Given the description of an element on the screen output the (x, y) to click on. 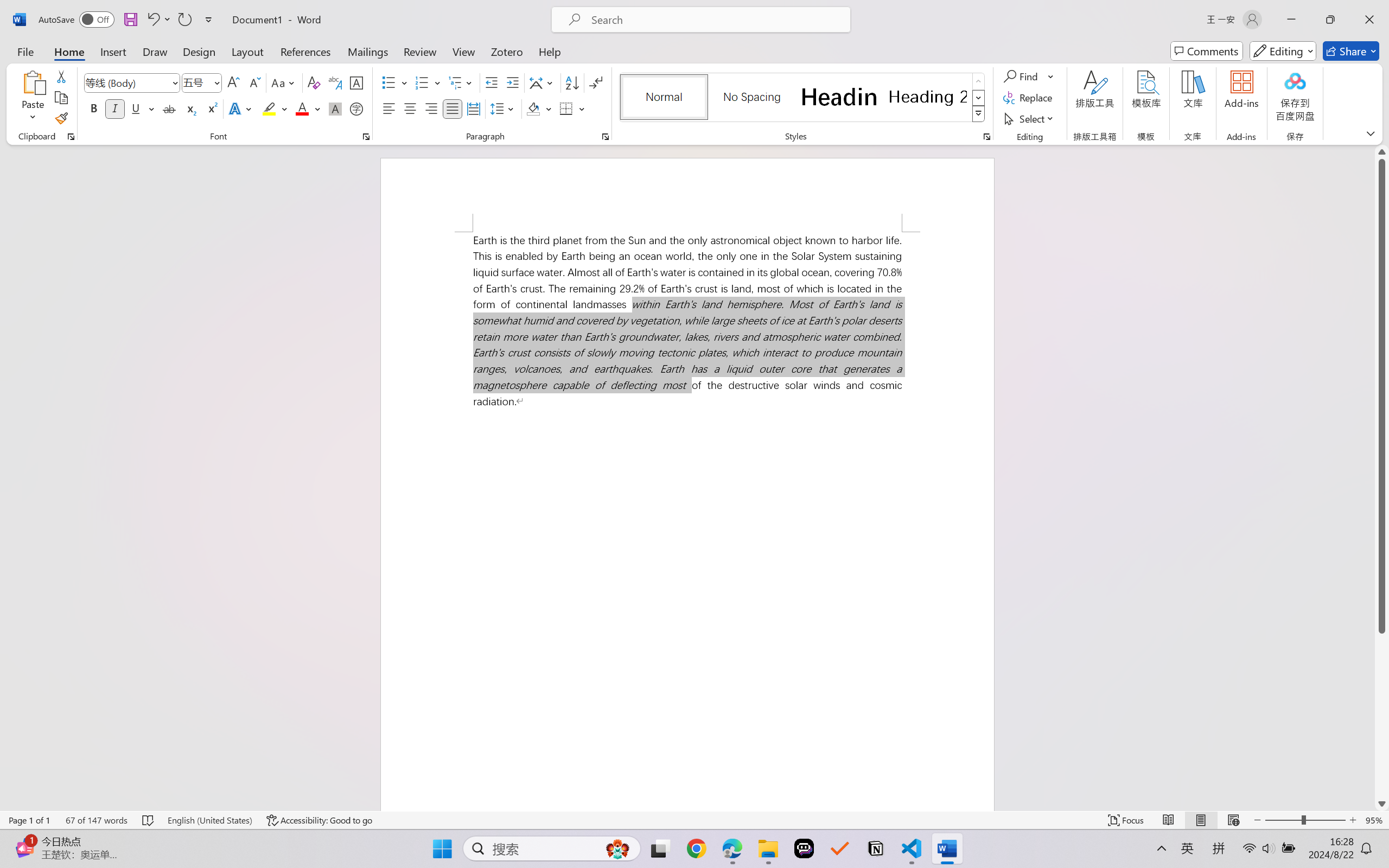
Page 1 content (687, 521)
Font Color (308, 108)
Row Down (978, 97)
Page down (1382, 714)
Heading 2 (927, 96)
Text Highlight Color Yellow (269, 108)
Increase Indent (512, 82)
Phonetic Guide... (334, 82)
Office Clipboard... (70, 136)
